Given the description of an element on the screen output the (x, y) to click on. 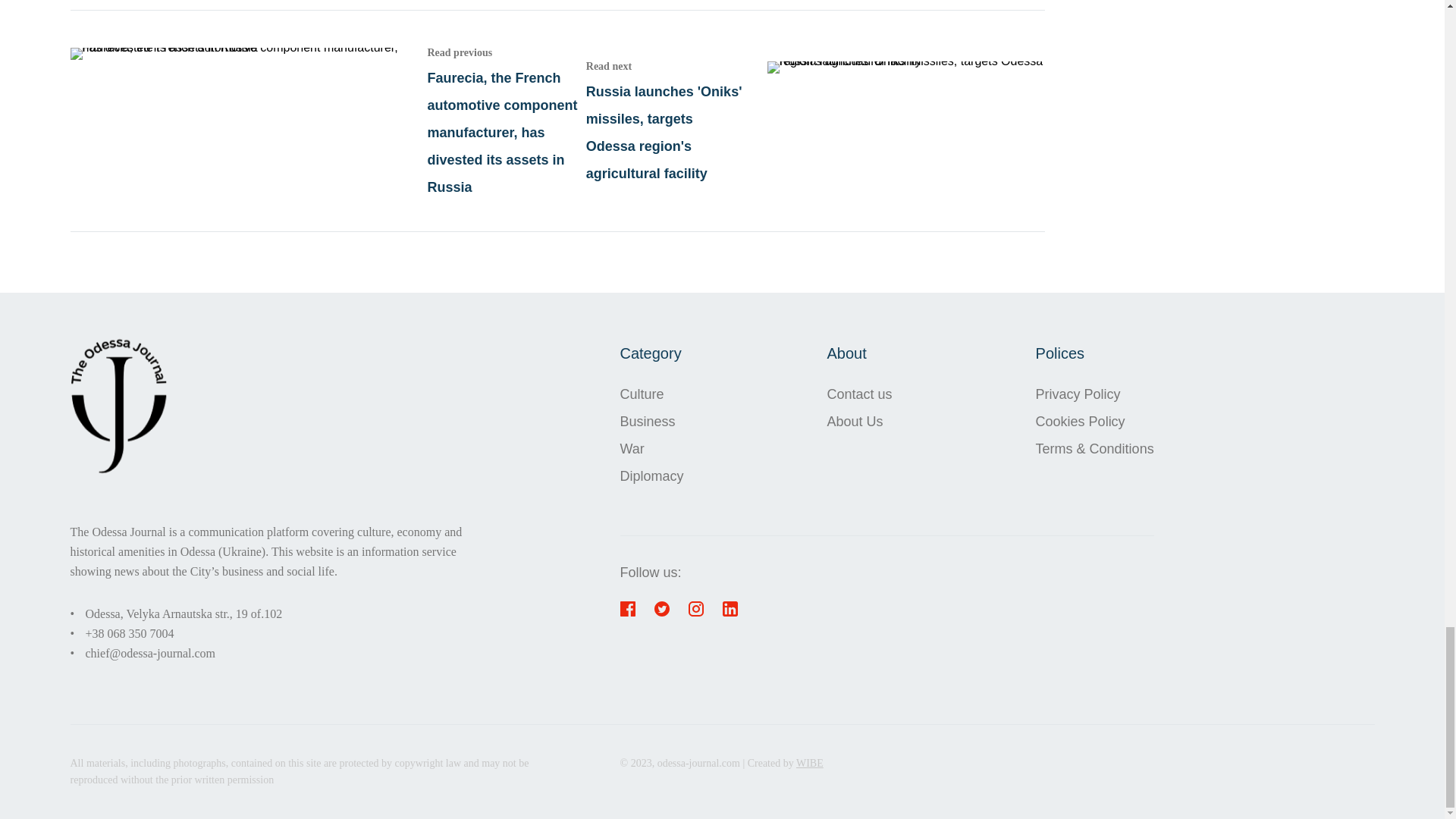
Business (652, 420)
Culture (652, 393)
Odessa, Velyka Arnautska str., 19 of.102 (183, 613)
